Given the description of an element on the screen output the (x, y) to click on. 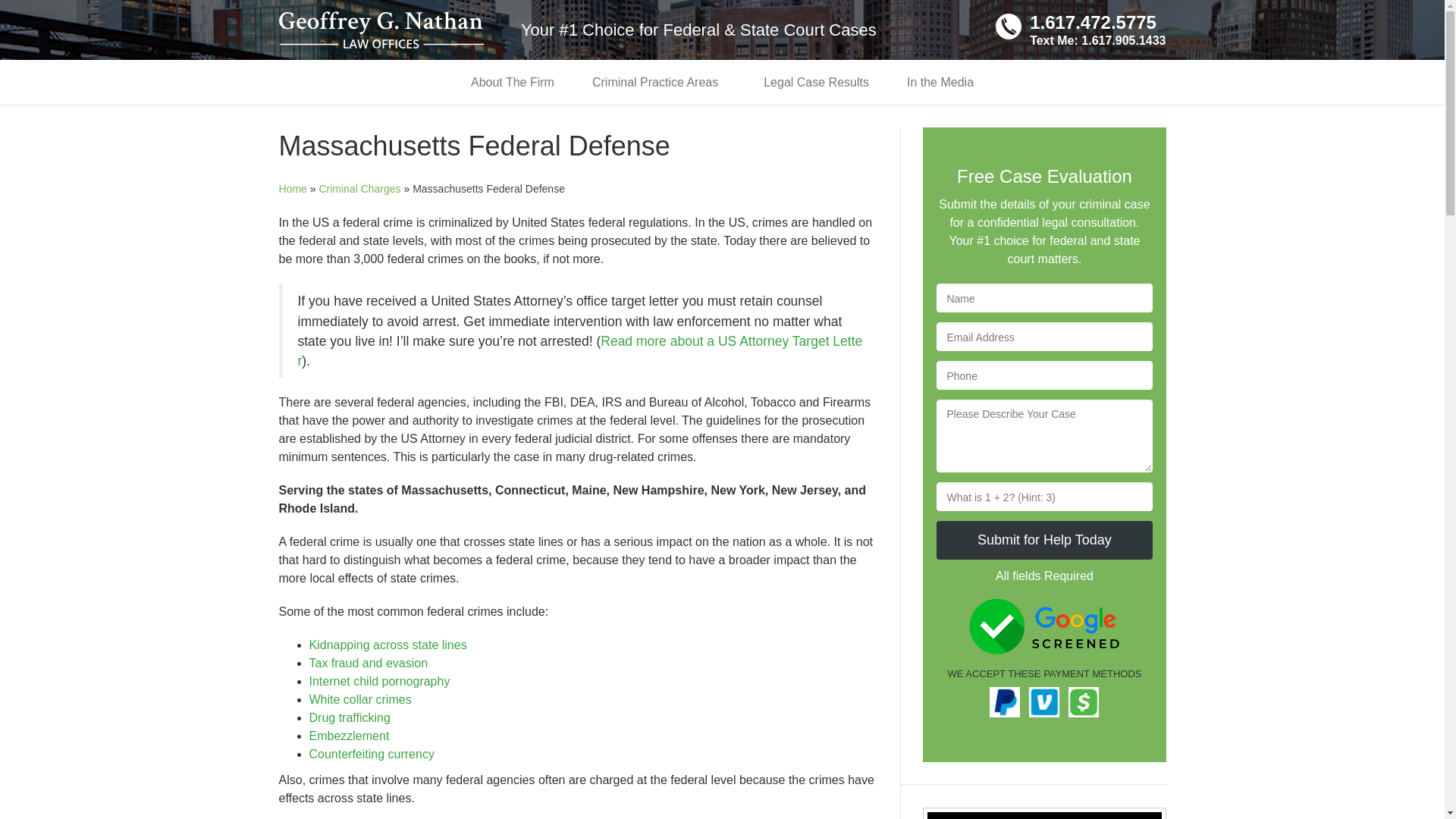
White collar crimes (360, 698)
Criminal Practice Areas (658, 82)
Drug trafficking (349, 717)
Read more about a US Attorney Target Letter (579, 350)
Legal Case Results (816, 82)
Internet child pornography (378, 680)
Submit for Help Today (1043, 540)
About The Firm (512, 82)
Kidnapping across state lines (387, 644)
Tax fraud and evasion (368, 662)
Embezzlement (349, 735)
1.617.472.5775 (1097, 22)
Criminal Practice Areas (658, 82)
About The Firm (512, 82)
Criminal Charges (359, 188)
